Given the description of an element on the screen output the (x, y) to click on. 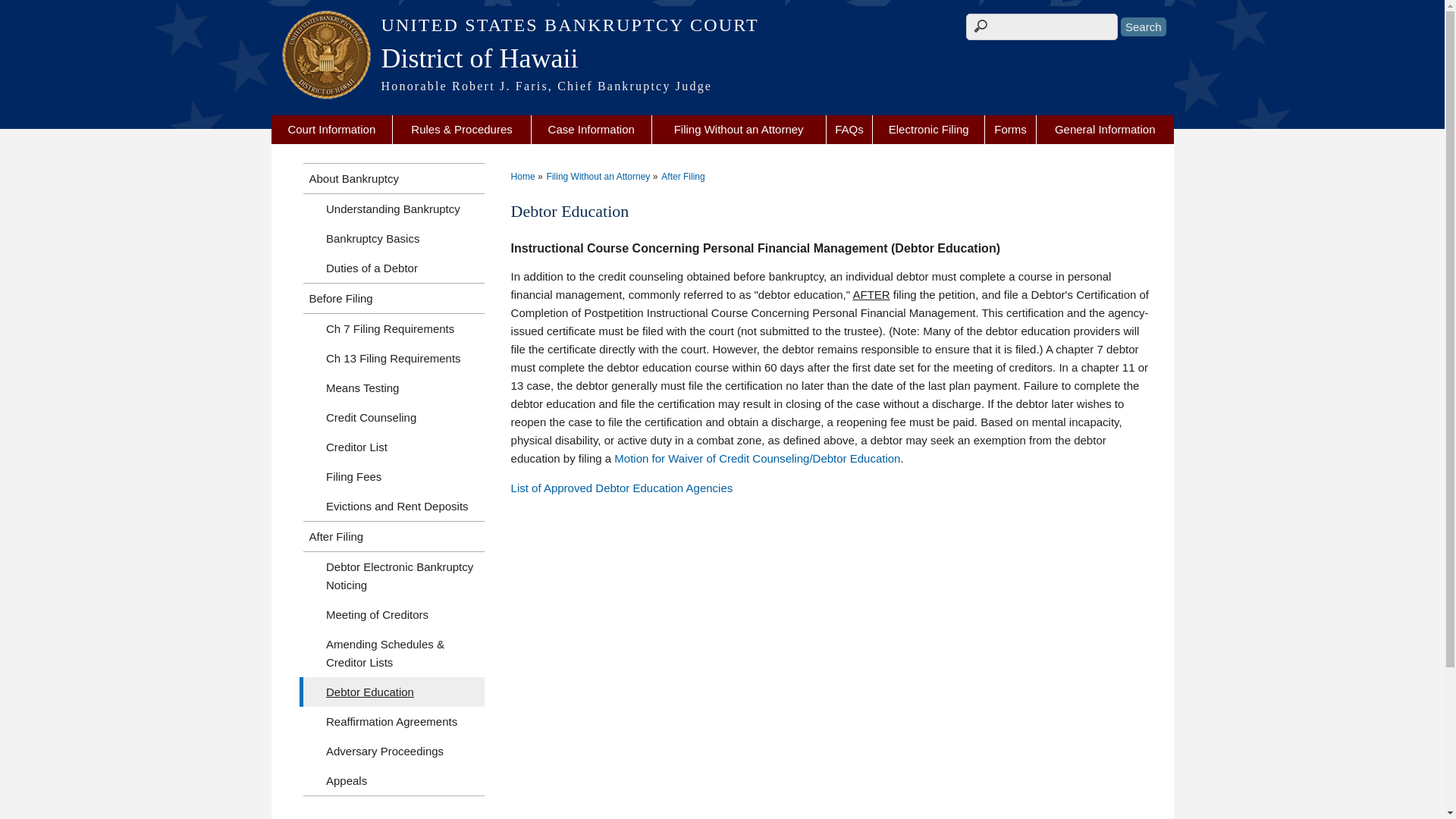
Enter the terms you wish to search for. (1042, 26)
Electronic Filing (928, 129)
Home (721, 25)
Filing Without an Attorney (738, 129)
Forms (1010, 129)
FAQs (849, 129)
Case Information (590, 129)
Search (1143, 26)
Home (721, 57)
District of Hawaii (721, 57)
Court Information (331, 129)
Search (1143, 26)
Honorable Robert J. Faris, Chief Bankruptcy Judge (721, 86)
Home (721, 86)
